Given the description of an element on the screen output the (x, y) to click on. 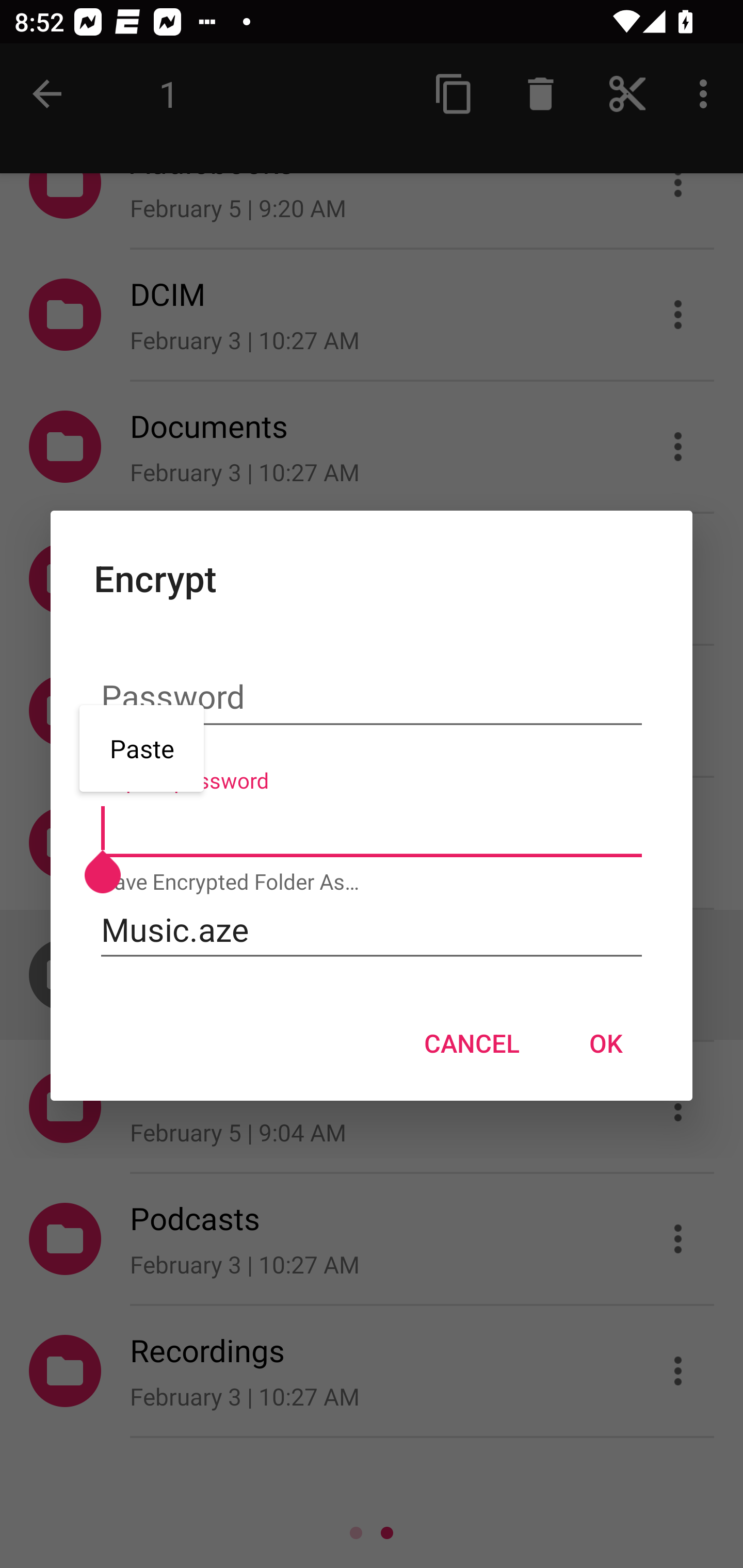
Password (371, 697)
Repeat password (371, 829)
Music.aze (371, 929)
CANCEL (470, 1043)
OK (605, 1043)
